Given the description of an element on the screen output the (x, y) to click on. 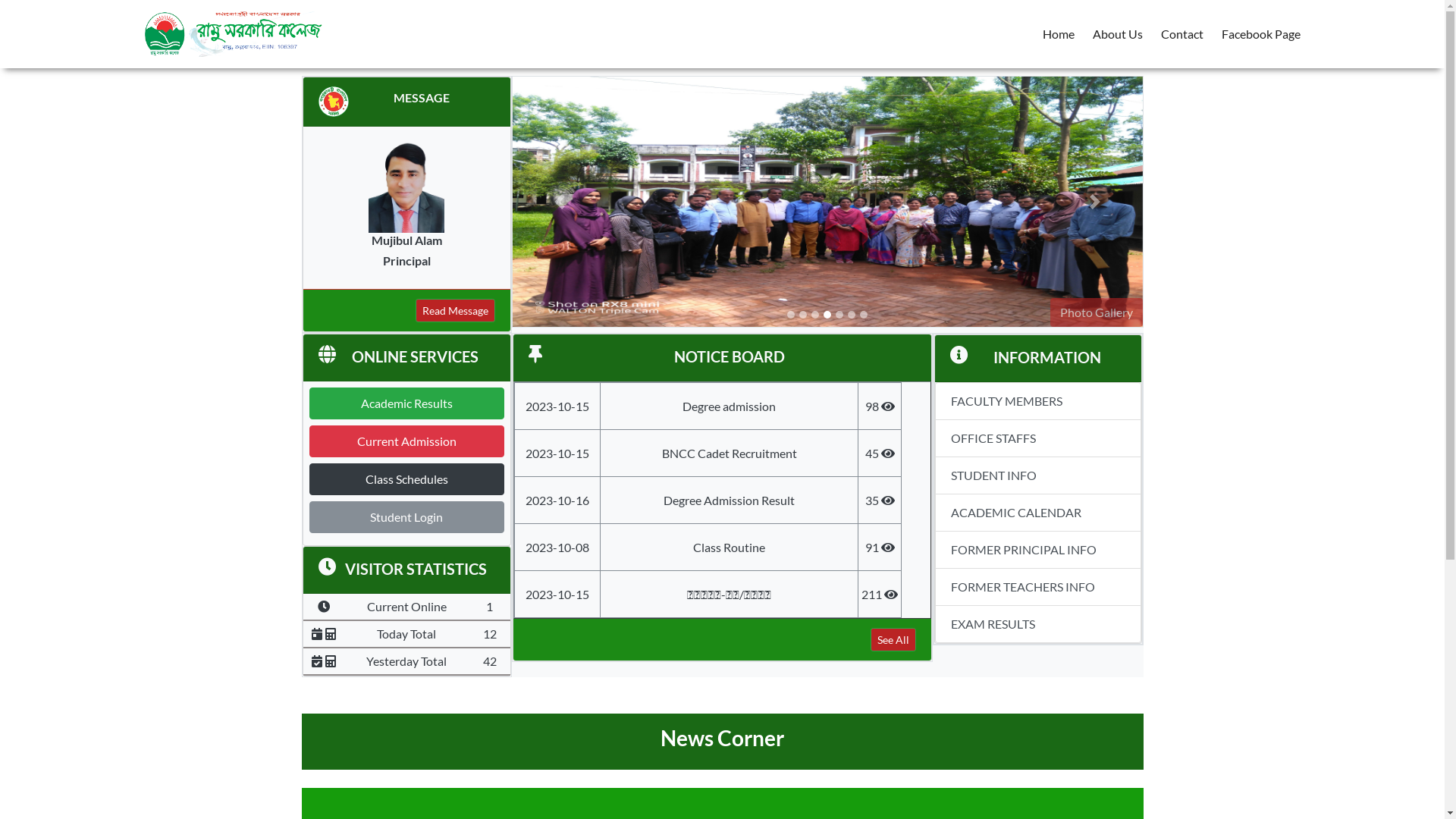
Photo Gallery Element type: text (1095, 312)
2023-10-15 BNCC Cadet Recruitment 45 Element type: text (707, 452)
2023-10-08 Class Routine 91 Element type: text (707, 547)
Read Message Element type: text (455, 310)
FORMER PRINCIPAL INFO Element type: text (1038, 549)
Class Schedules Element type: text (407, 479)
EXAM RESULTS Element type: text (1038, 624)
Contact Element type: text (1181, 34)
FACULTY MEMBERS Element type: text (1038, 401)
Facebook Page Element type: text (1259, 34)
STUDENT INFO Element type: text (1038, 475)
OFFICE STAFFS Element type: text (1038, 438)
2023-10-15 Degree admission 98 Element type: text (707, 405)
Student Login Element type: text (407, 517)
2023-10-16 Degree Admission Result 35 Element type: text (707, 500)
About Us Element type: text (1117, 34)
ACADEMIC CALENDAR Element type: text (1038, 512)
FORMER TEACHERS INFO Element type: text (1038, 586)
Academic Results Element type: text (407, 403)
Current Admission Element type: text (407, 441)
Home Element type: text (1057, 34)
See All Element type: text (893, 639)
